Given the description of an element on the screen output the (x, y) to click on. 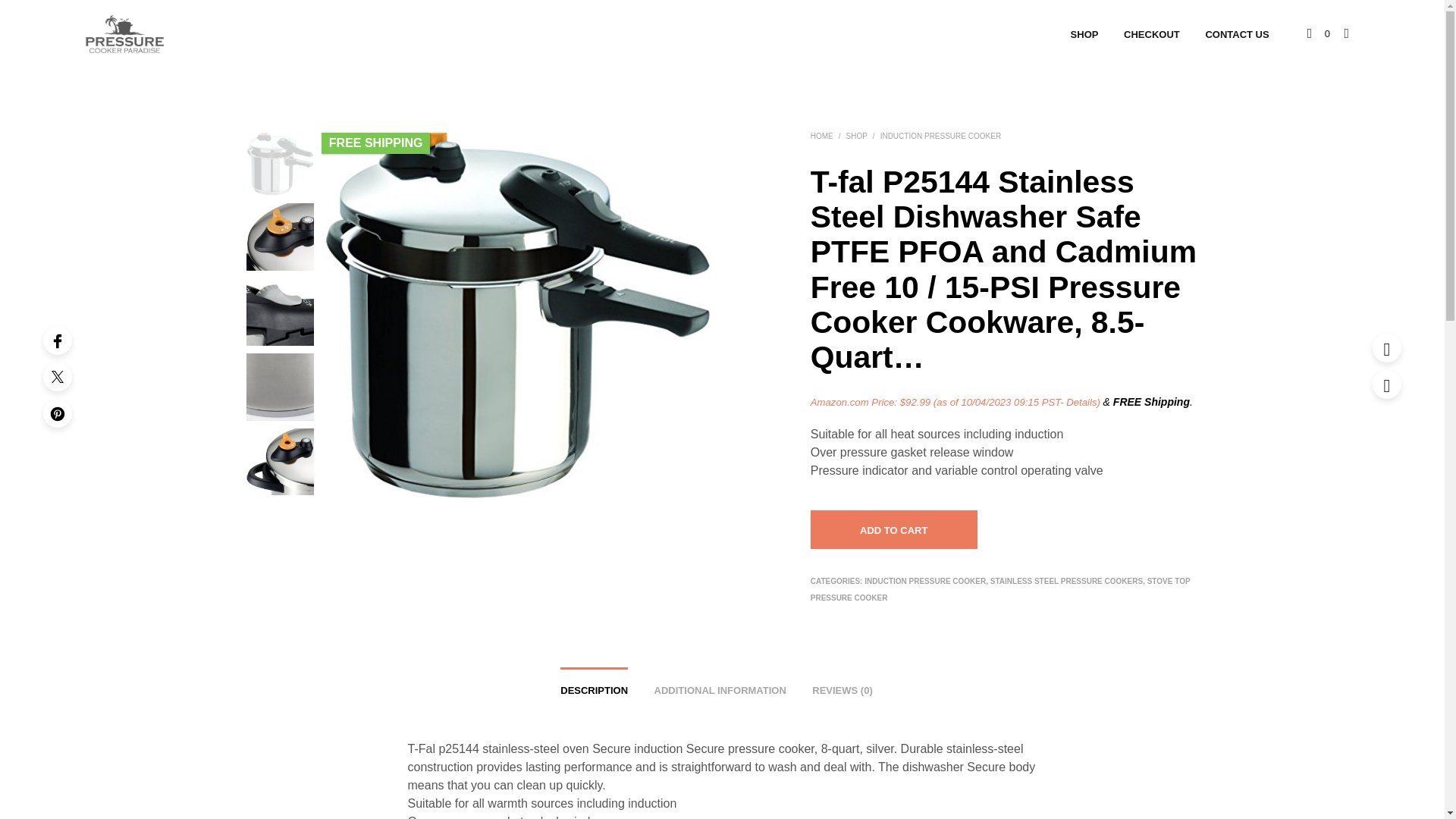
SHOP (856, 135)
CHECKOUT (1151, 34)
SHOP (1084, 34)
ADDITIONAL INFORMATION (719, 685)
Details (1080, 401)
CONTACT US (1236, 34)
STOVE TOP PRESSURE COOKER (1000, 589)
INDUCTION PRESSURE COOKER (924, 581)
0 (1318, 33)
FREE SHIPPING (376, 142)
HOME (821, 135)
ADD TO CART (893, 529)
DESCRIPTION (593, 685)
STAINLESS STEEL PRESSURE COOKERS (1066, 581)
